Given the description of an element on the screen output the (x, y) to click on. 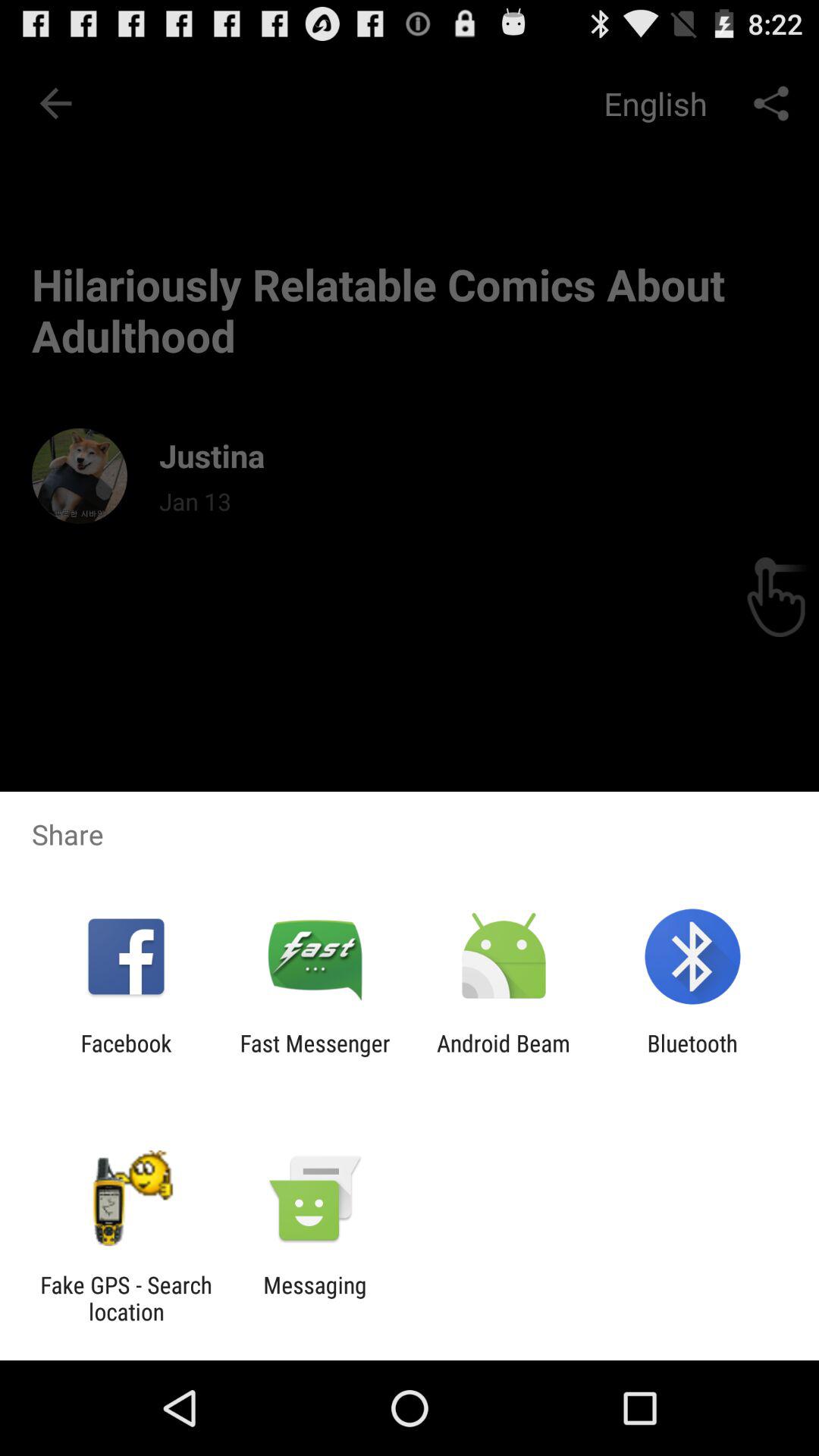
tap messaging icon (314, 1298)
